Given the description of an element on the screen output the (x, y) to click on. 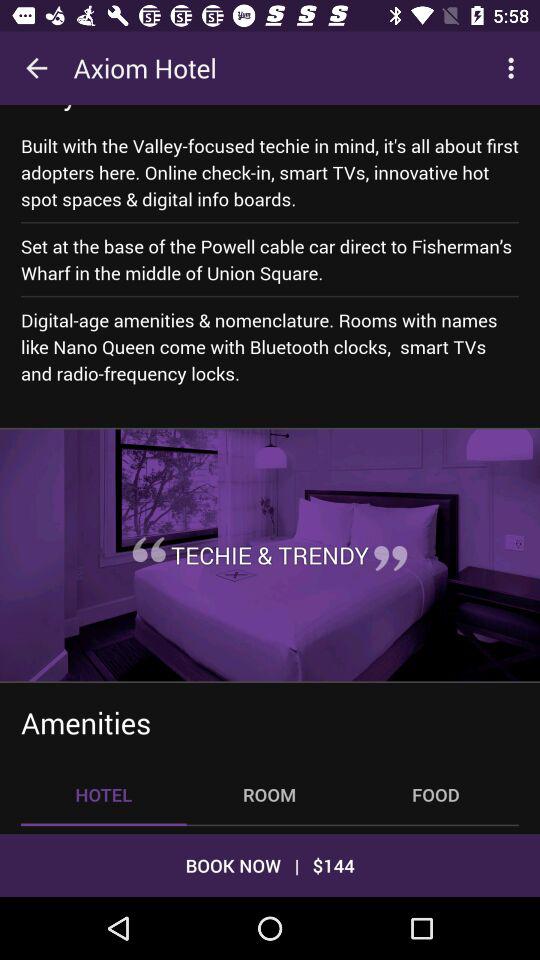
choose the item to the left of the food item (269, 794)
